Given the description of an element on the screen output the (x, y) to click on. 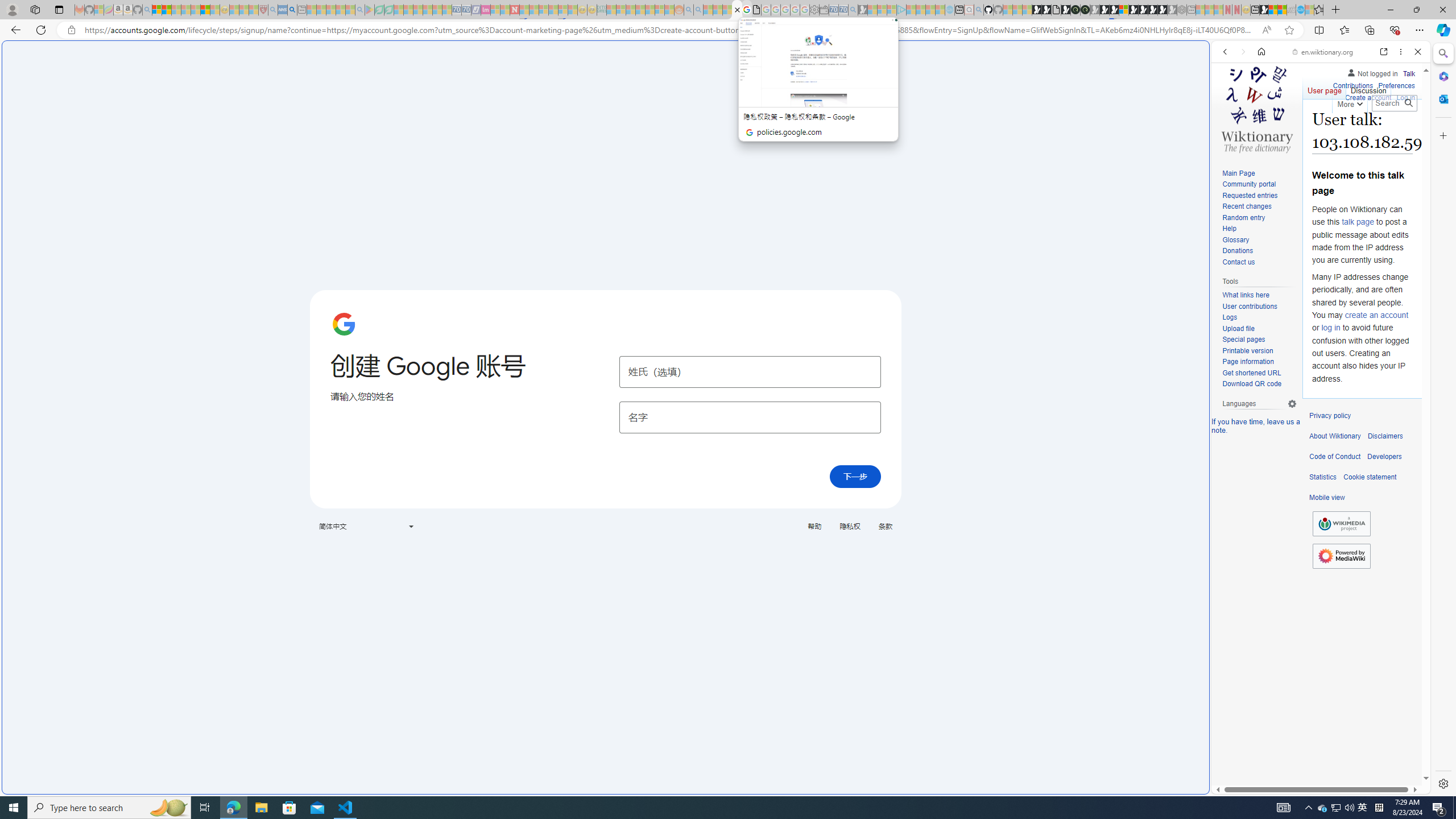
Special pages (1259, 339)
github - Search - Sleeping (978, 9)
Wiktionary (1315, 380)
Privacy policy (1329, 415)
Search Wiktionary (1393, 103)
Search or enter web address (922, 108)
